Given the description of an element on the screen output the (x, y) to click on. 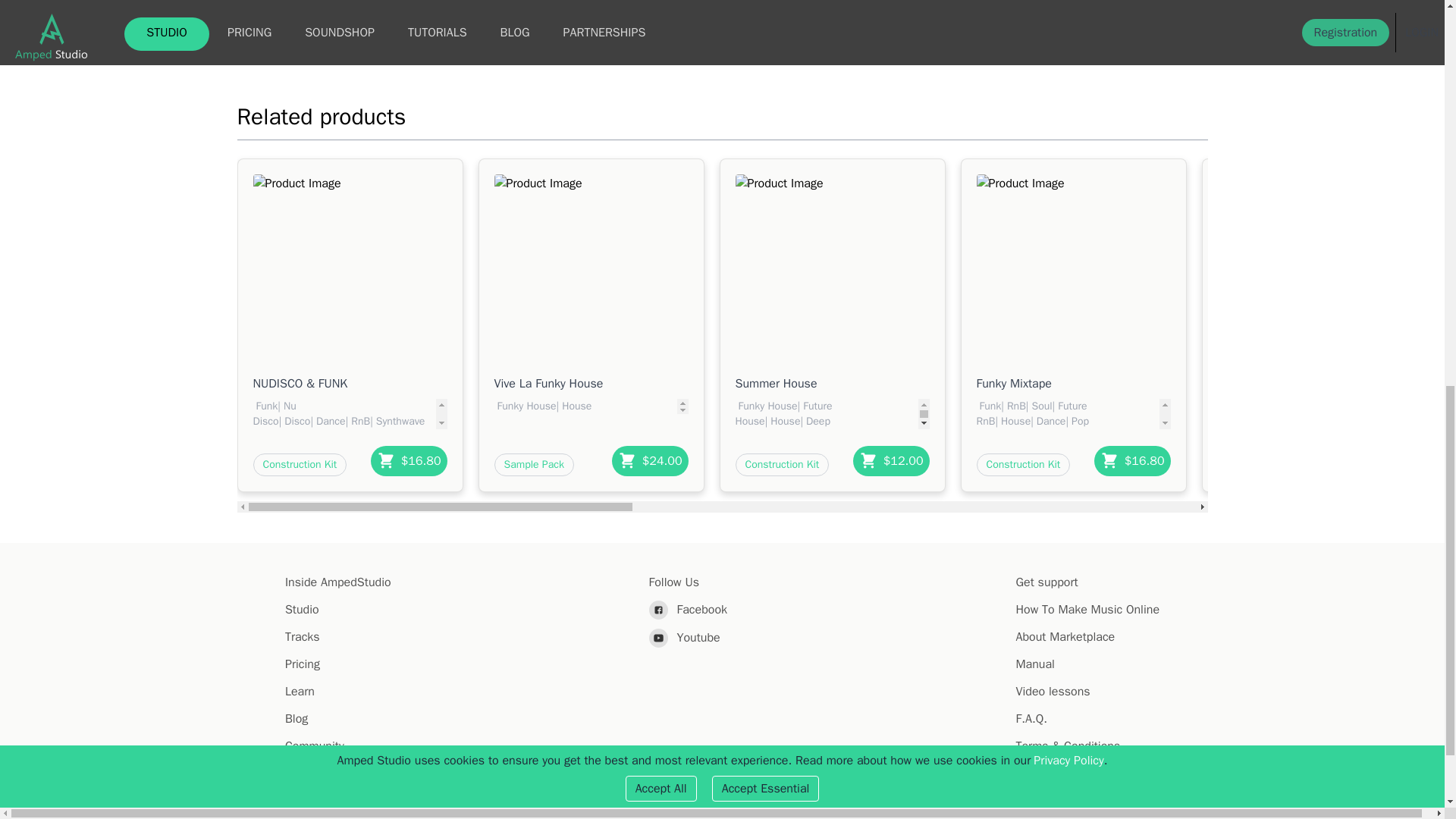
Construction Kit (300, 464)
RnB (358, 420)
Dance (329, 420)
Nu Disco (275, 413)
Funk (265, 405)
Vive La Funky House (591, 383)
Synthwave (398, 420)
Disco (295, 420)
Funky House (525, 405)
